Given the description of an element on the screen output the (x, y) to click on. 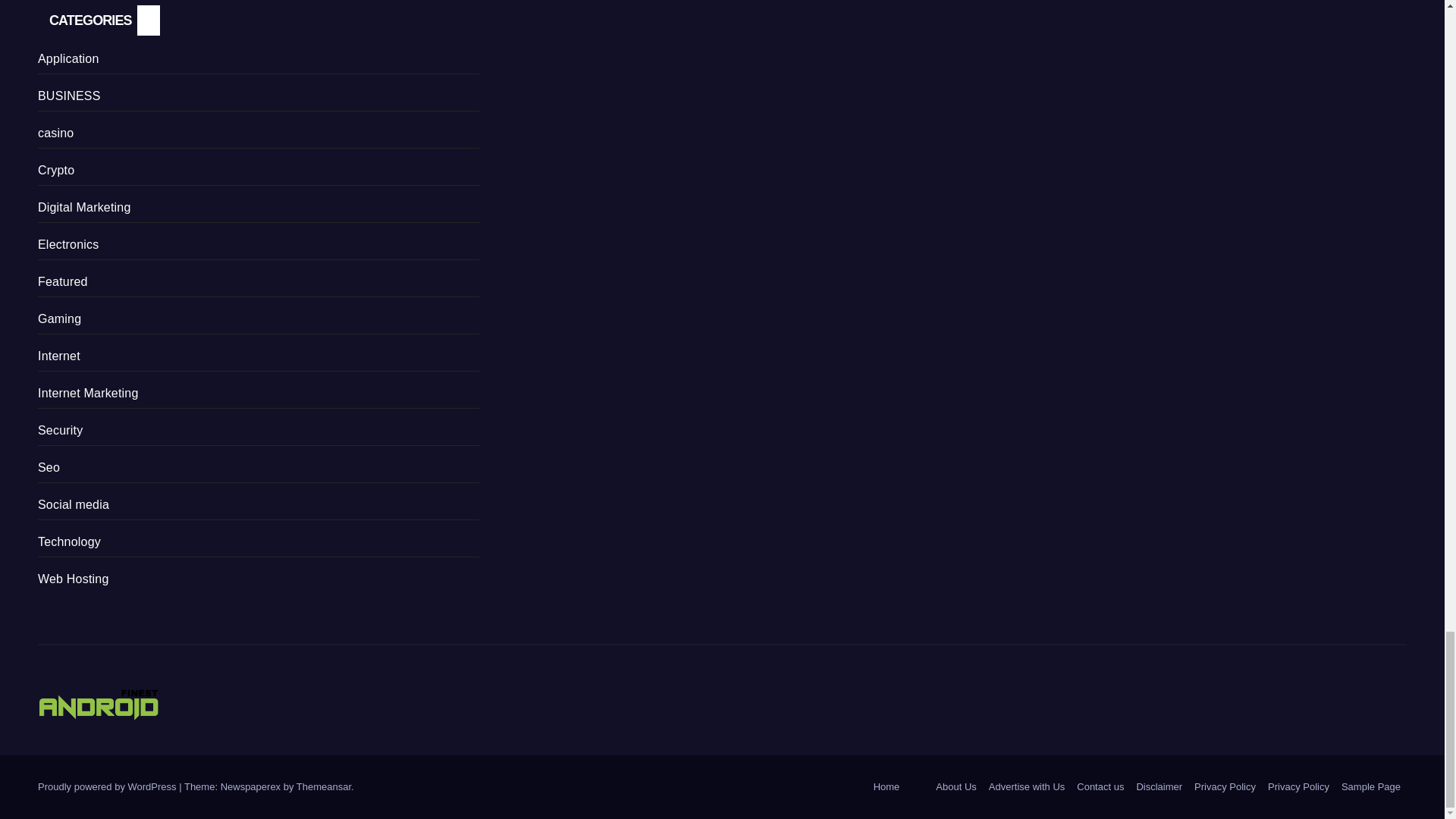
Home (886, 786)
